Given the description of an element on the screen output the (x, y) to click on. 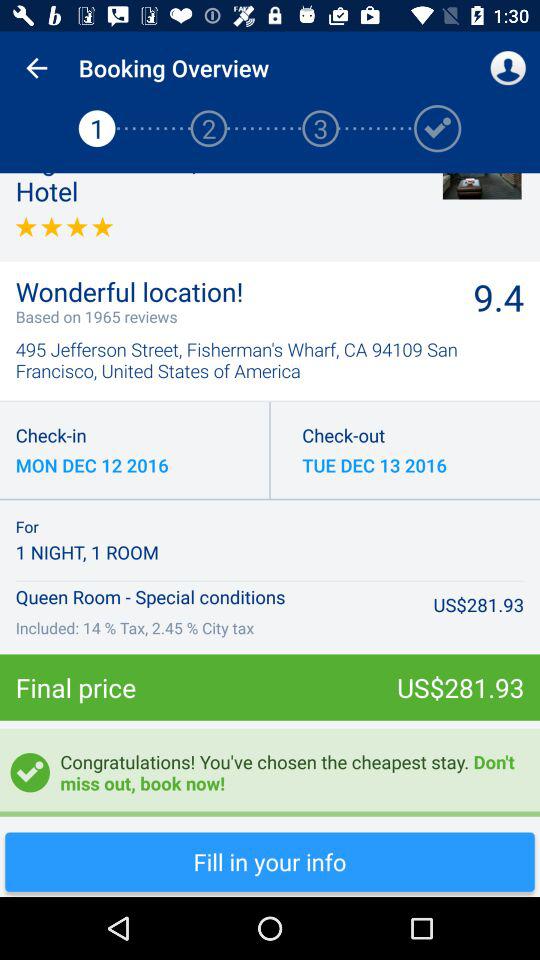
press app next to 1 app (36, 68)
